Given the description of an element on the screen output the (x, y) to click on. 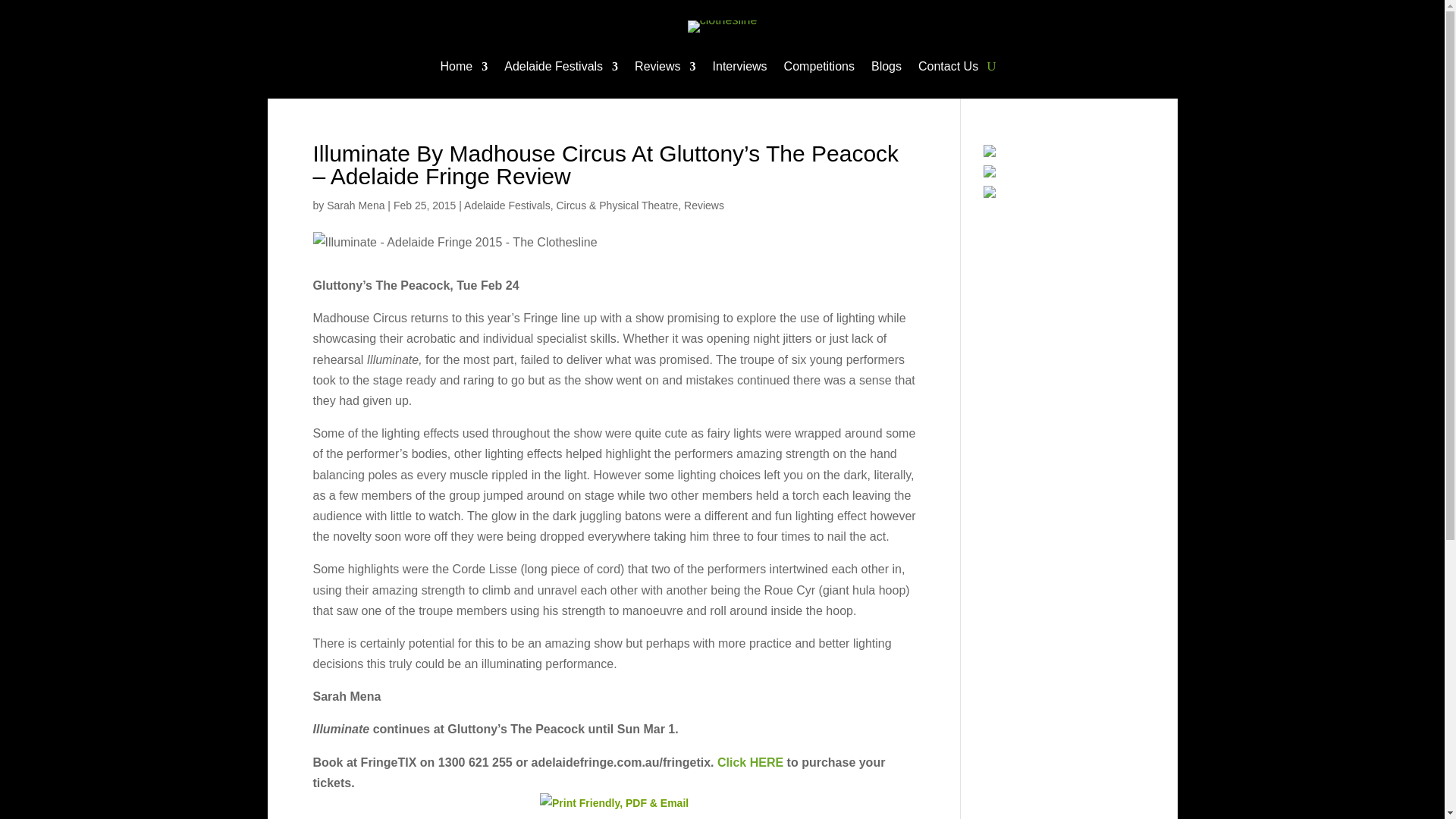
Sarah Mena (355, 205)
Clothesline C icon 3 (722, 26)
Reviews (703, 205)
Contact Us (948, 69)
Click HERE (750, 762)
Reviews (664, 69)
Blogs (885, 69)
Click HERE (750, 762)
Posts by Sarah Mena (355, 205)
Adelaide Festivals (560, 69)
Competitions (819, 69)
Adelaide Festivals (507, 205)
Home (464, 69)
Interviews (740, 69)
